Given the description of an element on the screen output the (x, y) to click on. 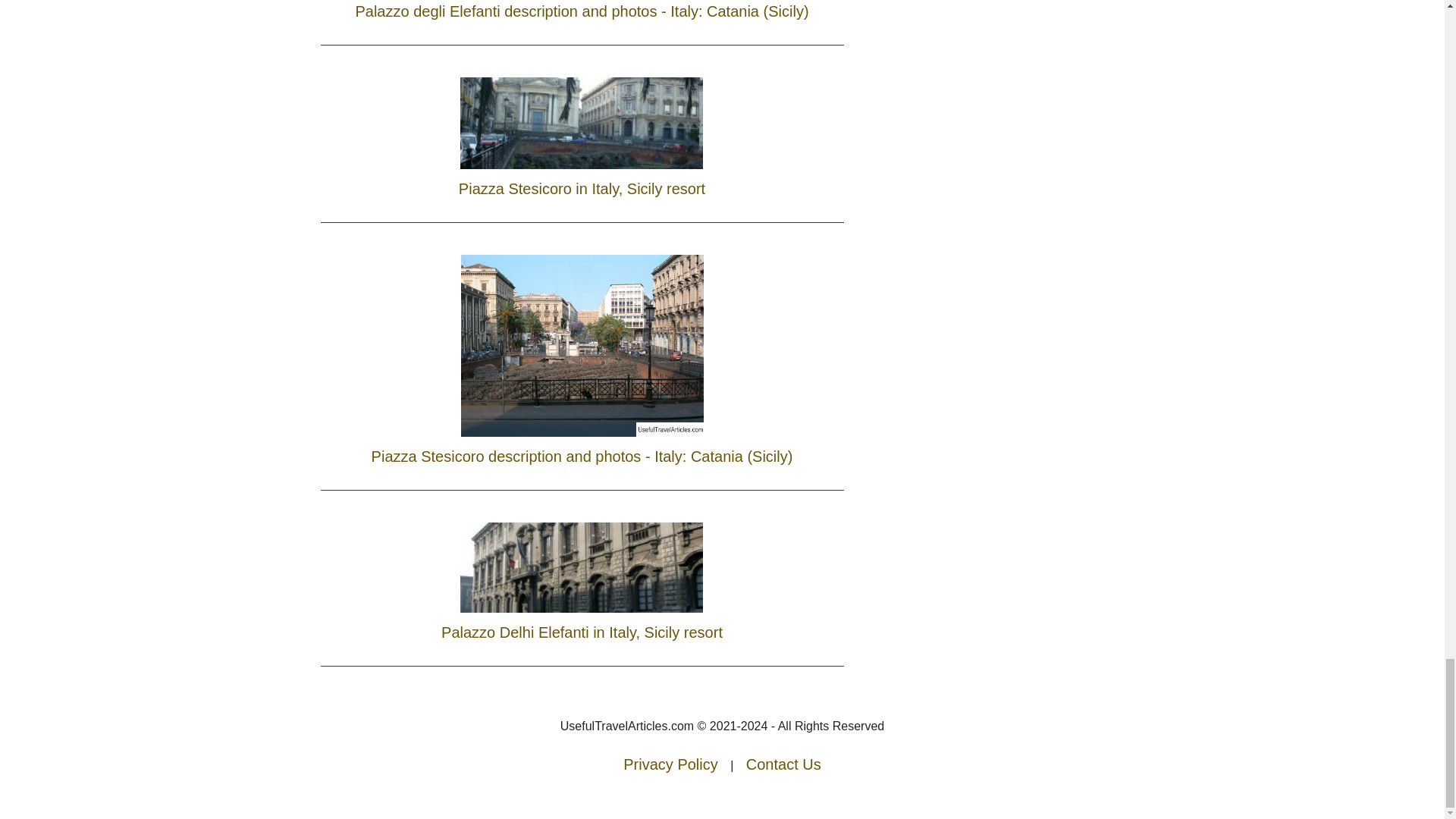
Piazza Stesicoro in Italy, Sicily resort (581, 133)
Palazzo Delhi Elefanti in Italy, Sicily resort (582, 578)
